Given the description of an element on the screen output the (x, y) to click on. 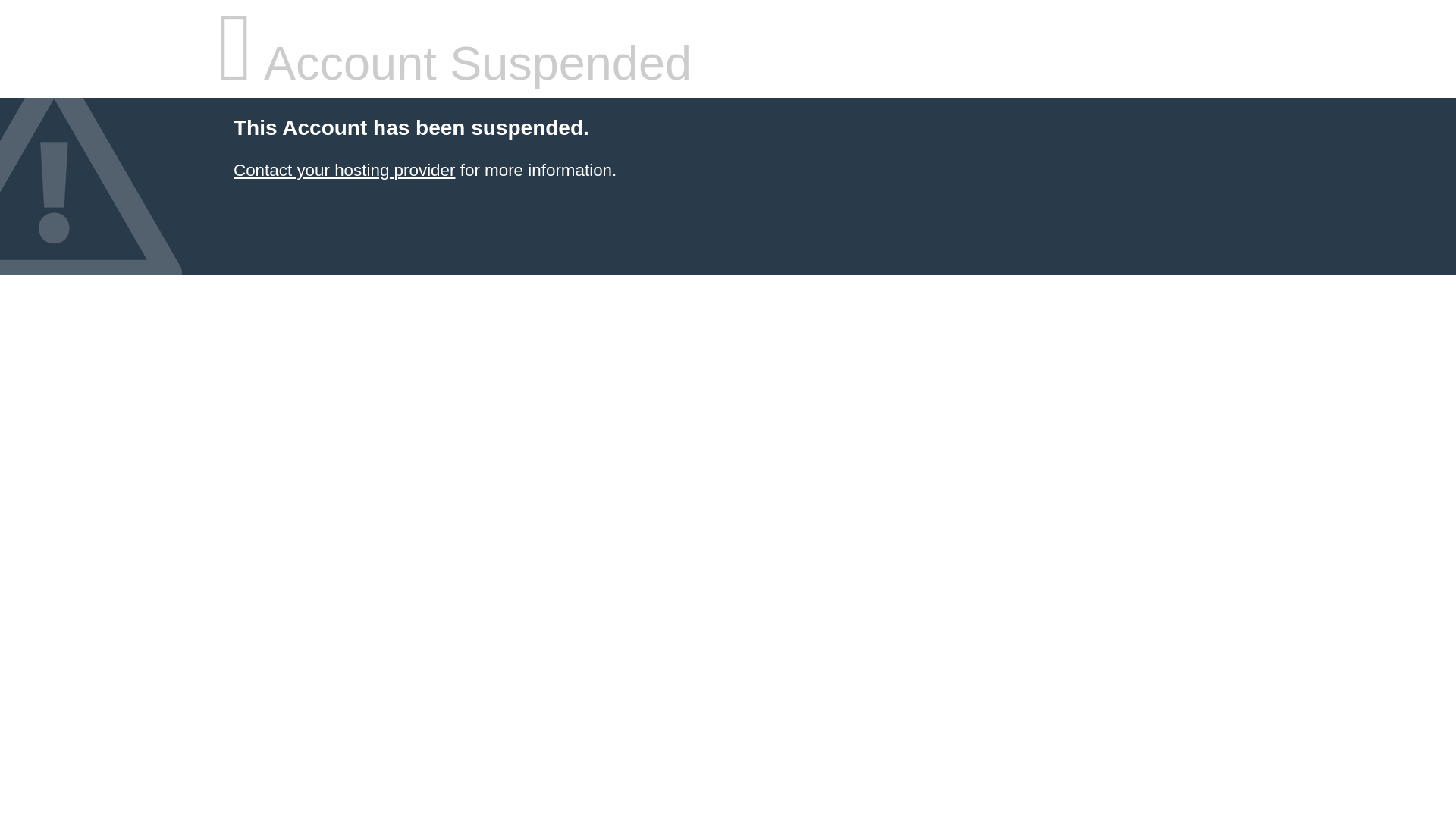
Contact your hosting provider (343, 169)
